Given the description of an element on the screen output the (x, y) to click on. 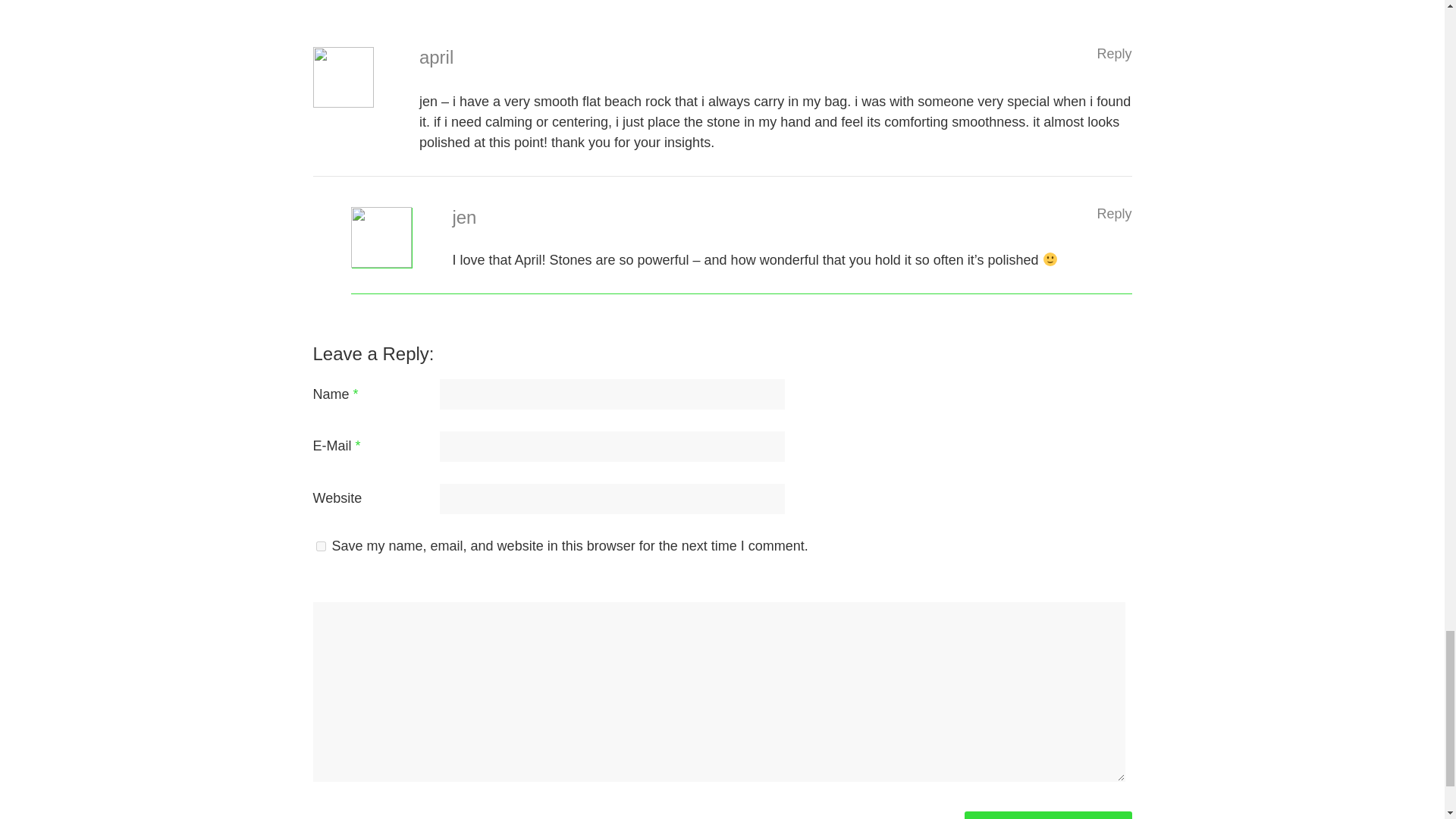
Reply (1113, 53)
Reply (1113, 213)
yes (319, 546)
SUBMIT COMMENT (1047, 815)
april (435, 56)
SUBMIT COMMENT (1047, 815)
